Given the description of an element on the screen output the (x, y) to click on. 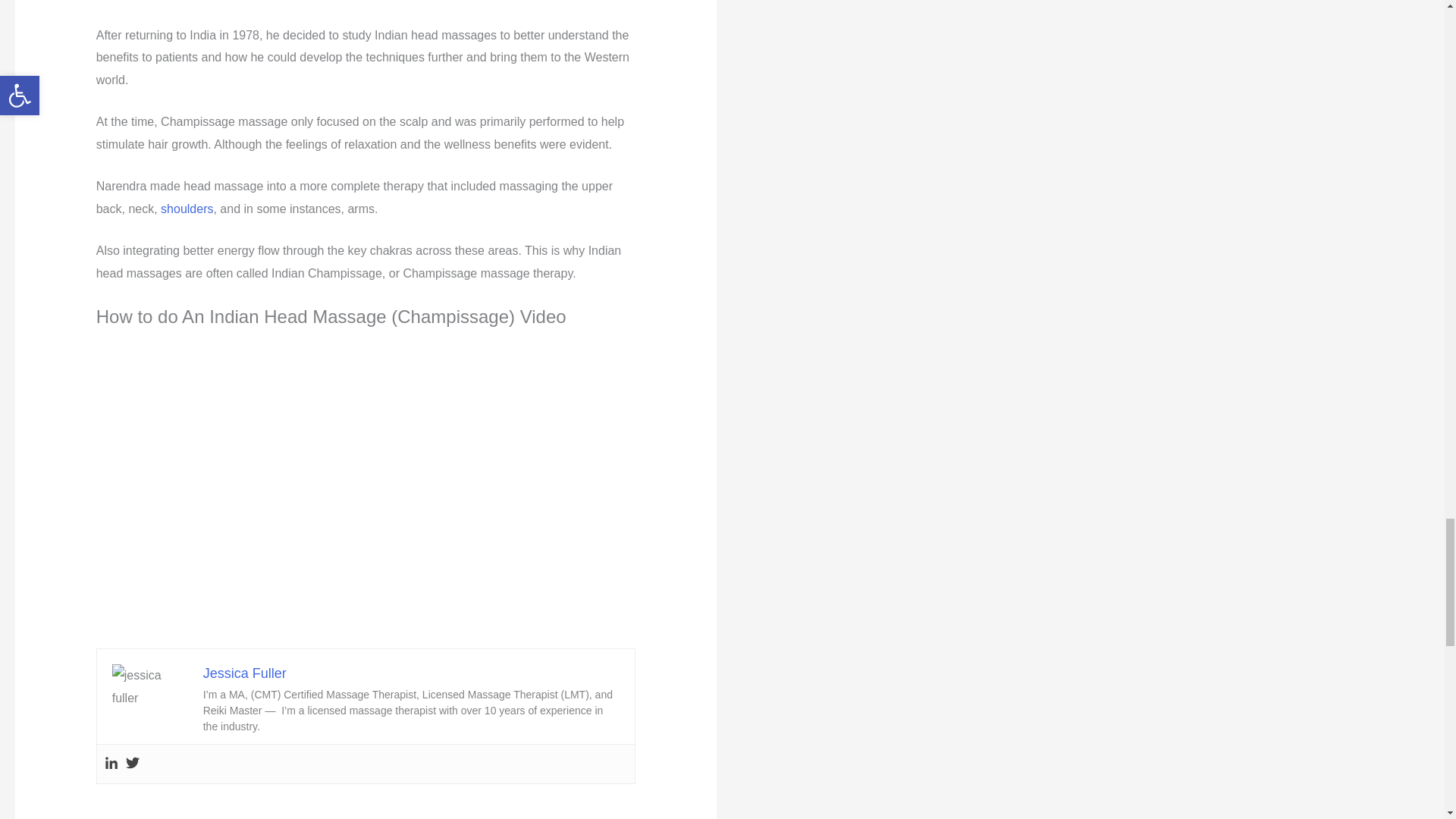
shoulders (186, 208)
Jessica Fuller (244, 672)
